Given the description of an element on the screen output the (x, y) to click on. 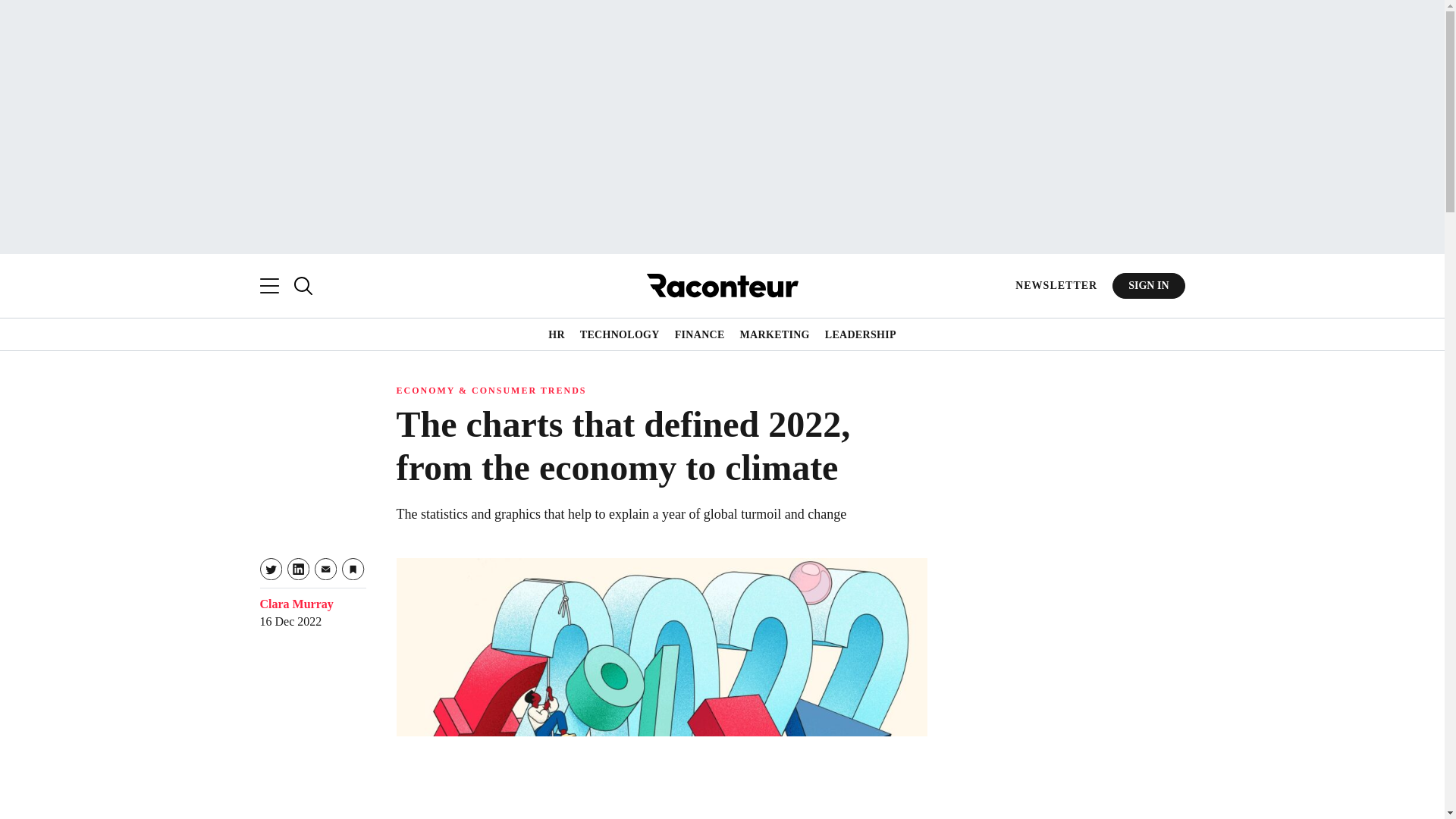
NEWSLETTER (1055, 285)
Clara Murray (296, 603)
TECHNOLOGY (619, 334)
MARKETING (774, 334)
HR (556, 334)
Raconteur (721, 285)
SIGN IN (1148, 285)
LEADERSHIP (860, 334)
FINANCE (700, 334)
